Given the description of an element on the screen output the (x, y) to click on. 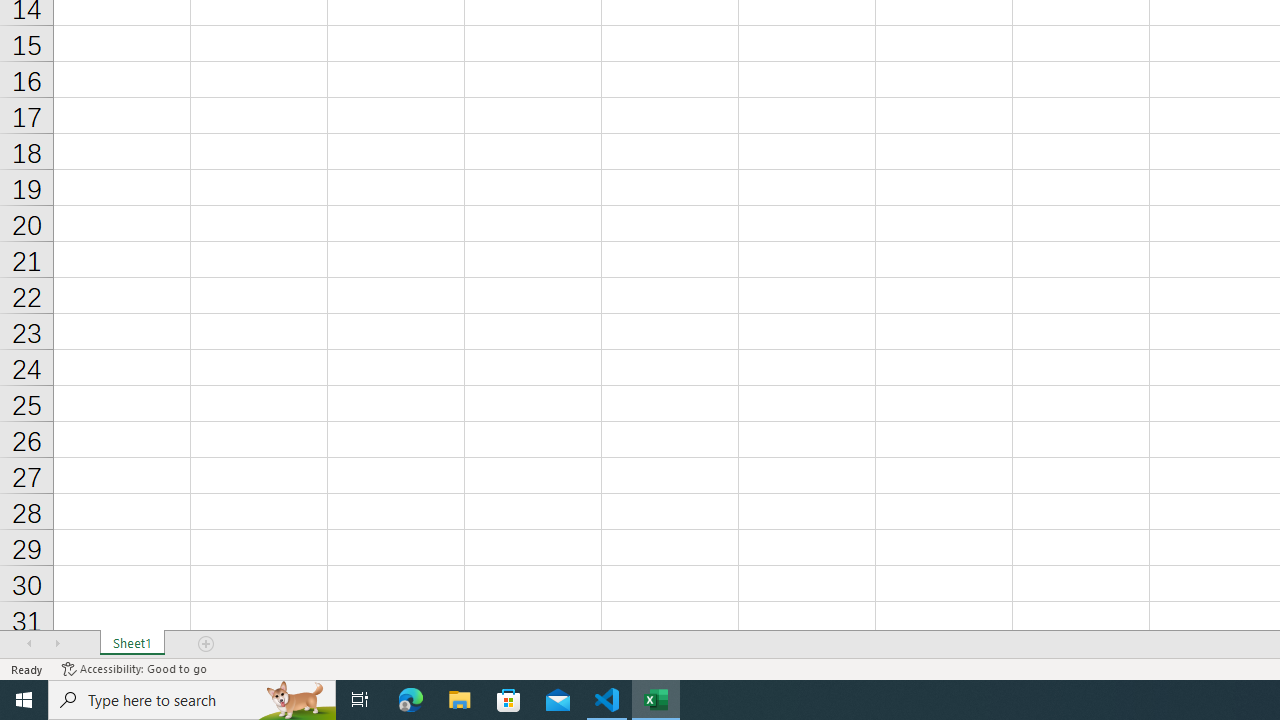
Scroll Left (29, 644)
Scroll Right (57, 644)
Sheet1 (132, 644)
Add Sheet (207, 644)
Accessibility Checker Accessibility: Good to go (134, 668)
